Given the description of an element on the screen output the (x, y) to click on. 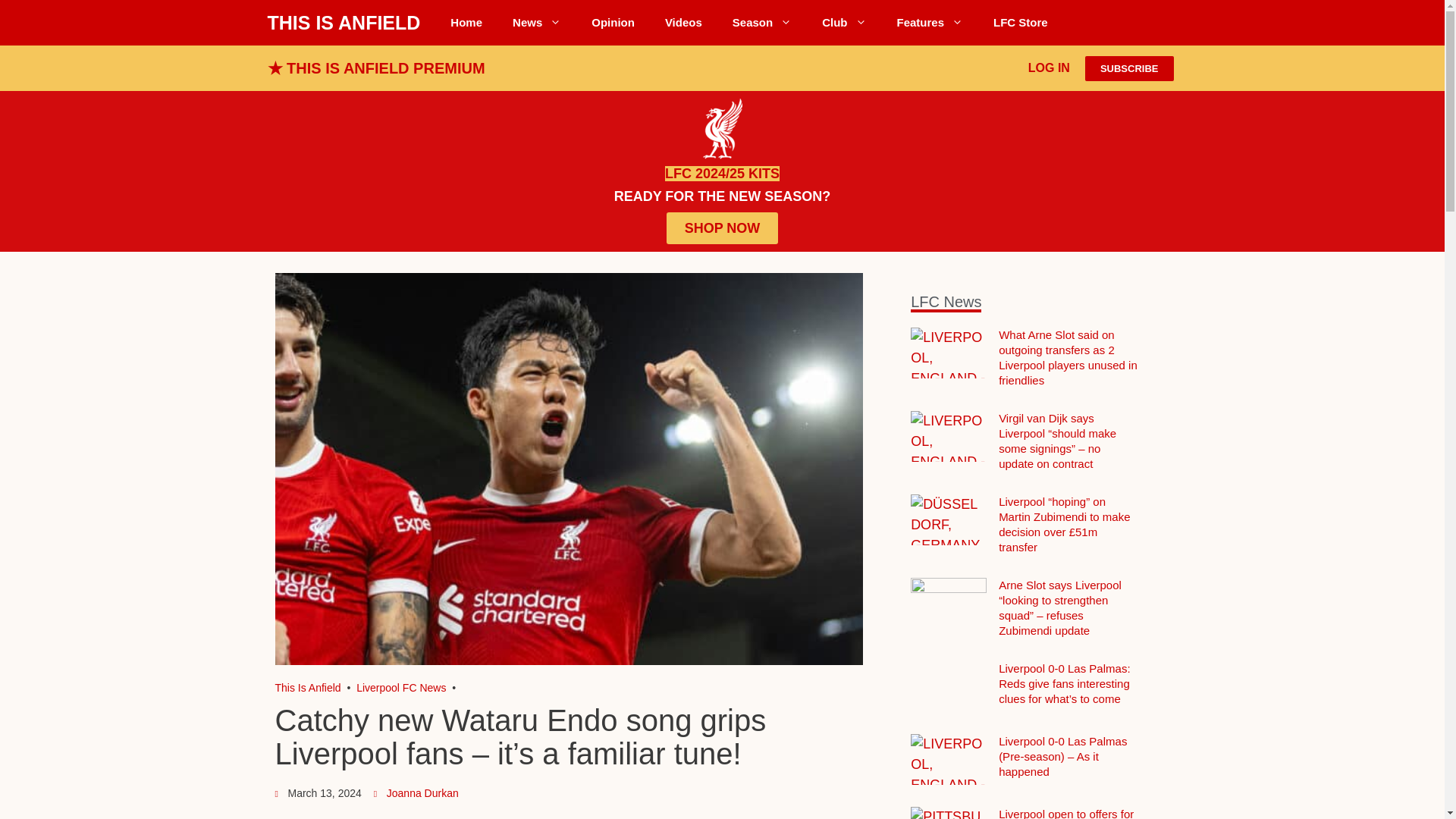
Liverpool FC (307, 687)
Club (843, 22)
Go to the Liverpool FC News category archives. (400, 687)
Liverpool FC Features (929, 22)
Season (761, 22)
Opinion (612, 22)
Liverpool FC Opinion (612, 22)
Features (929, 22)
Home (466, 22)
Liverpool FC News (536, 22)
